Given the description of an element on the screen output the (x, y) to click on. 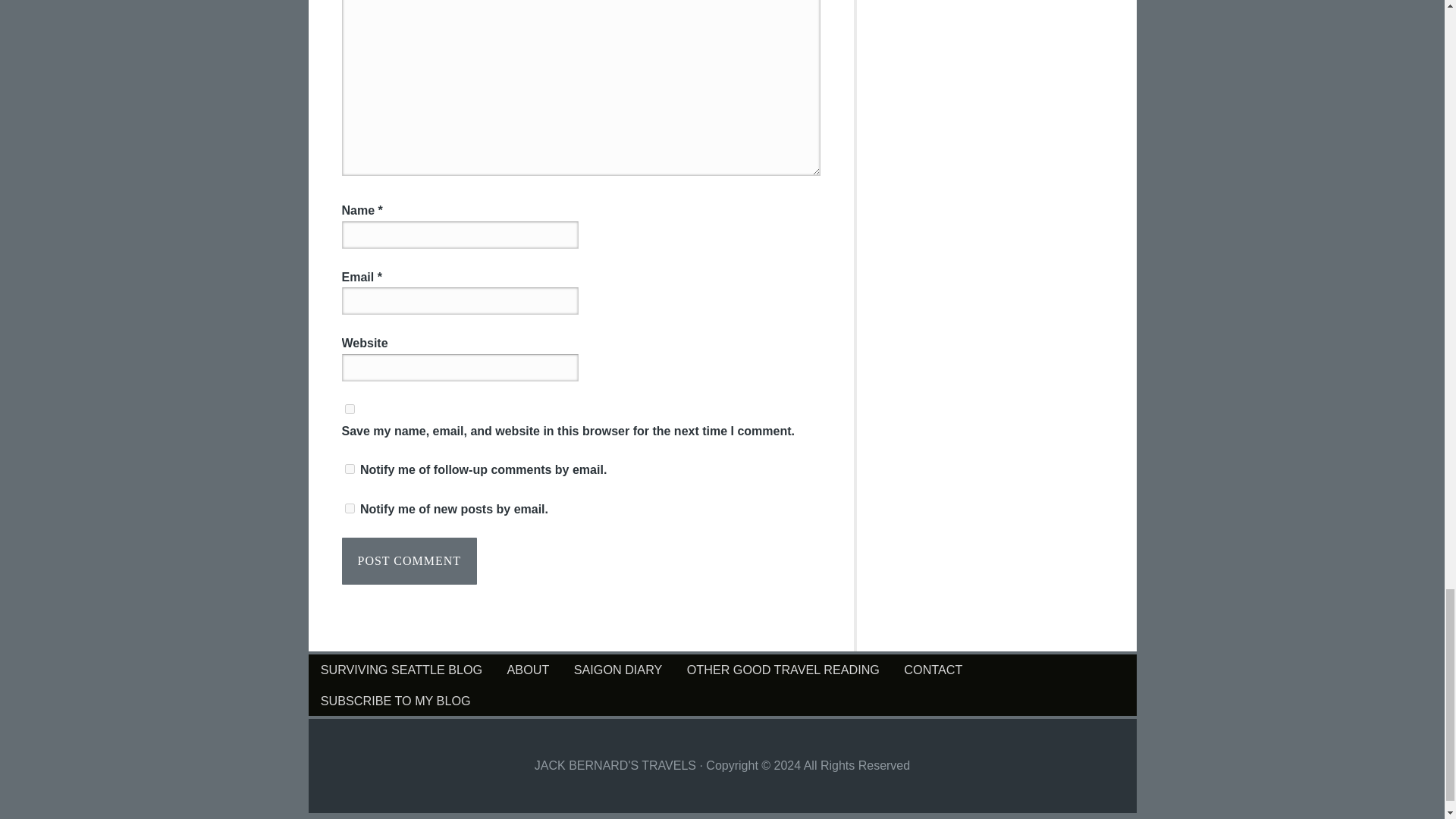
yes (348, 409)
Post Comment (408, 560)
Post Comment (408, 560)
subscribe (348, 469)
subscribe (348, 508)
